Given the description of an element on the screen output the (x, y) to click on. 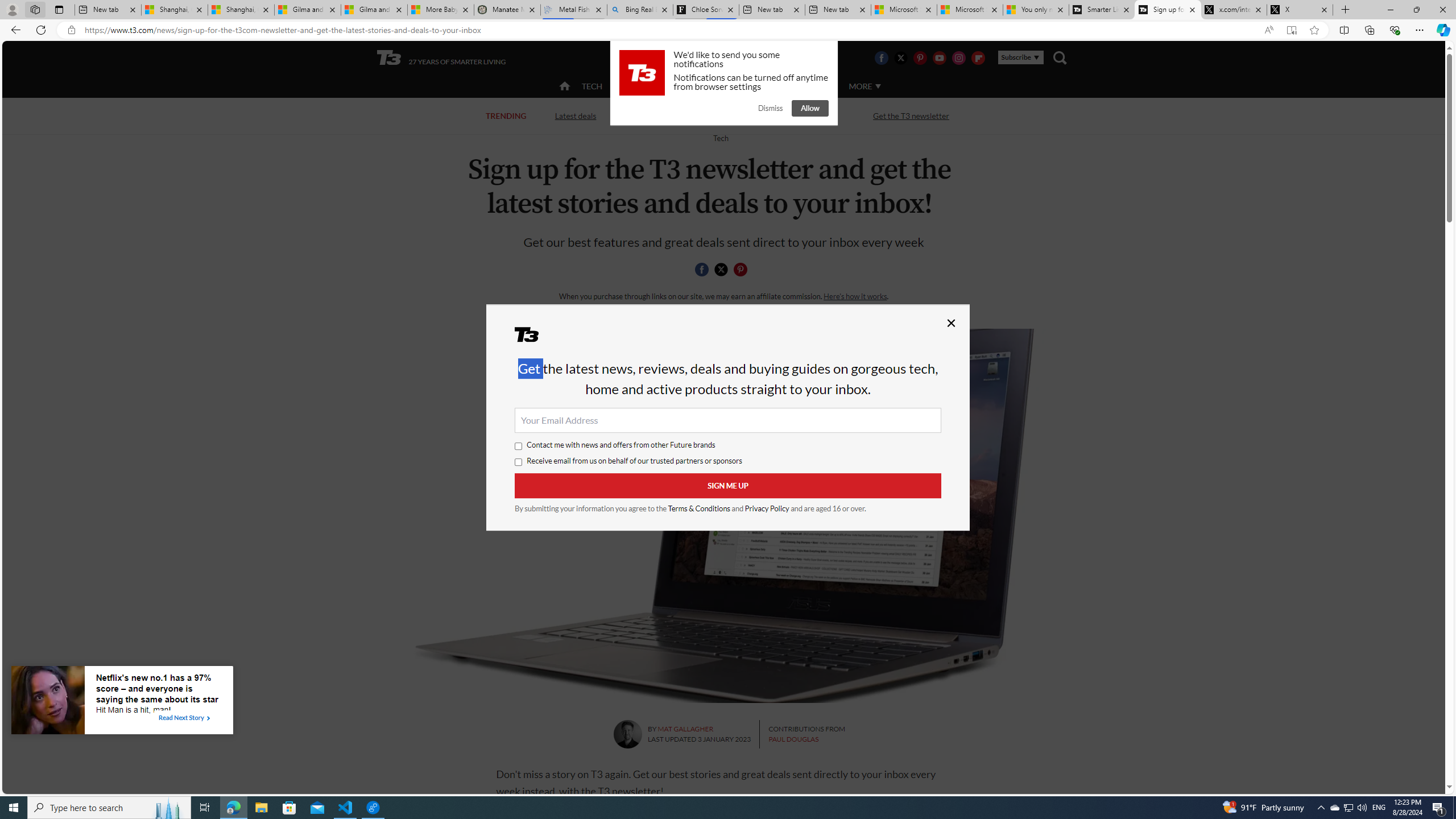
Tech (720, 137)
Back to Class 2024 (670, 115)
AUTO (815, 86)
Streaming TV and movies (788, 115)
Streaming TV and movies (788, 115)
HOME LIVING (701, 86)
Back to Class 2024 (669, 115)
Enter Immersive Reader (F9) (1291, 29)
Image for Taboola Advertising Unit (47, 702)
ACTIVE (638, 85)
T3 newsletter (723, 515)
